Given the description of an element on the screen output the (x, y) to click on. 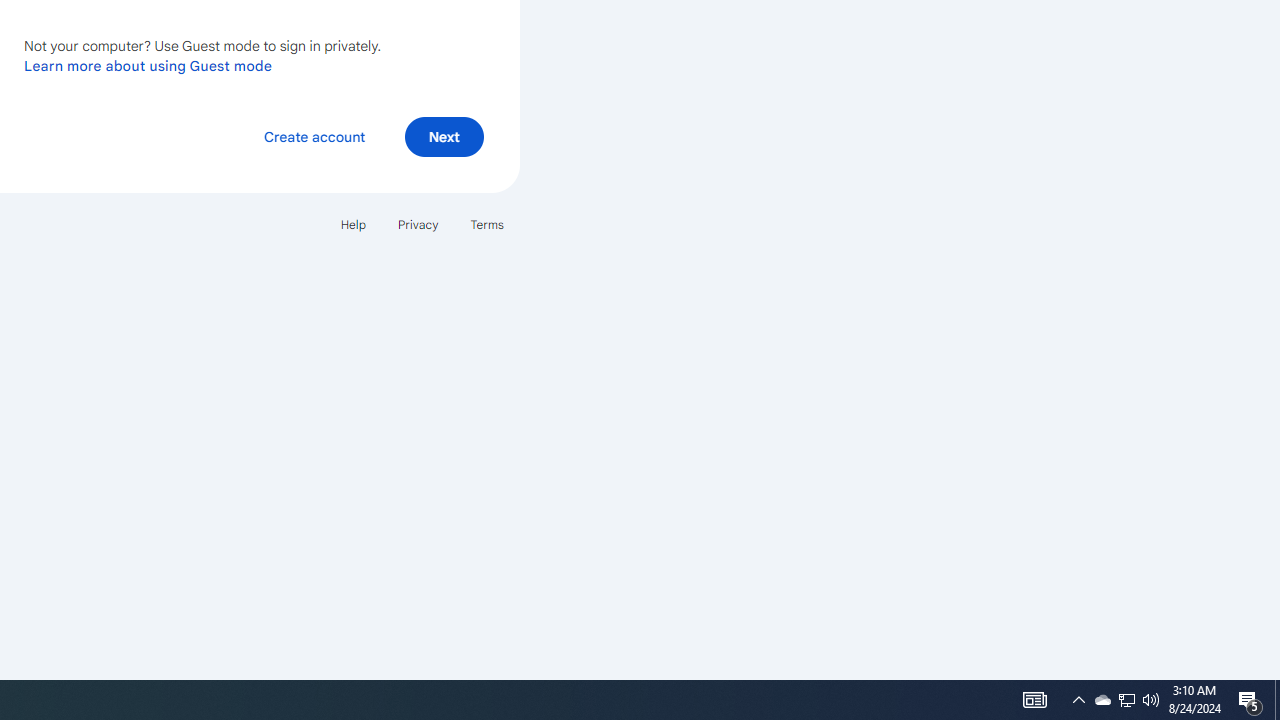
Next (443, 135)
Create account (314, 135)
Learn more about using Guest mode (148, 65)
